Given the description of an element on the screen output the (x, y) to click on. 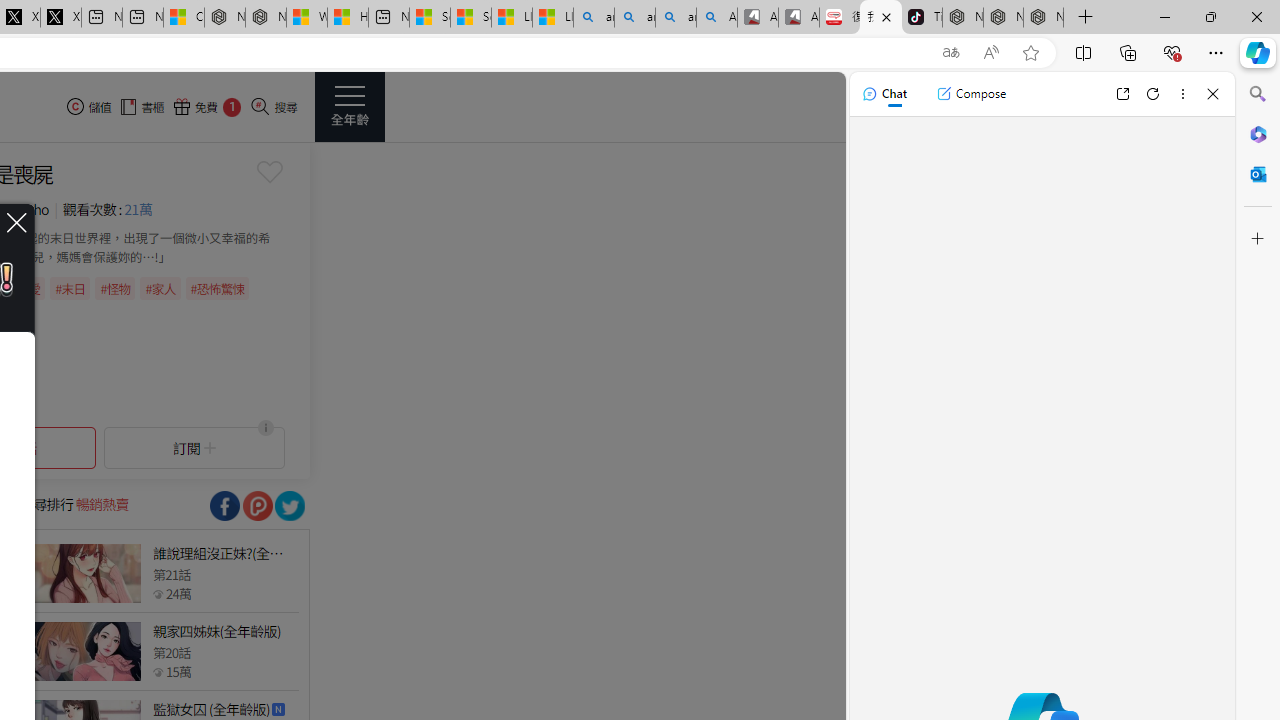
Chat (884, 93)
Class: side_menu_btn actionRightMenuBtn (349, 106)
Nordace - Summer Adventures 2024 (265, 17)
Nordace Siena Pro 15 Backpack (1003, 17)
Class: epicon_starpoint (158, 671)
amazon - Search (634, 17)
